Given the description of an element on the screen output the (x, y) to click on. 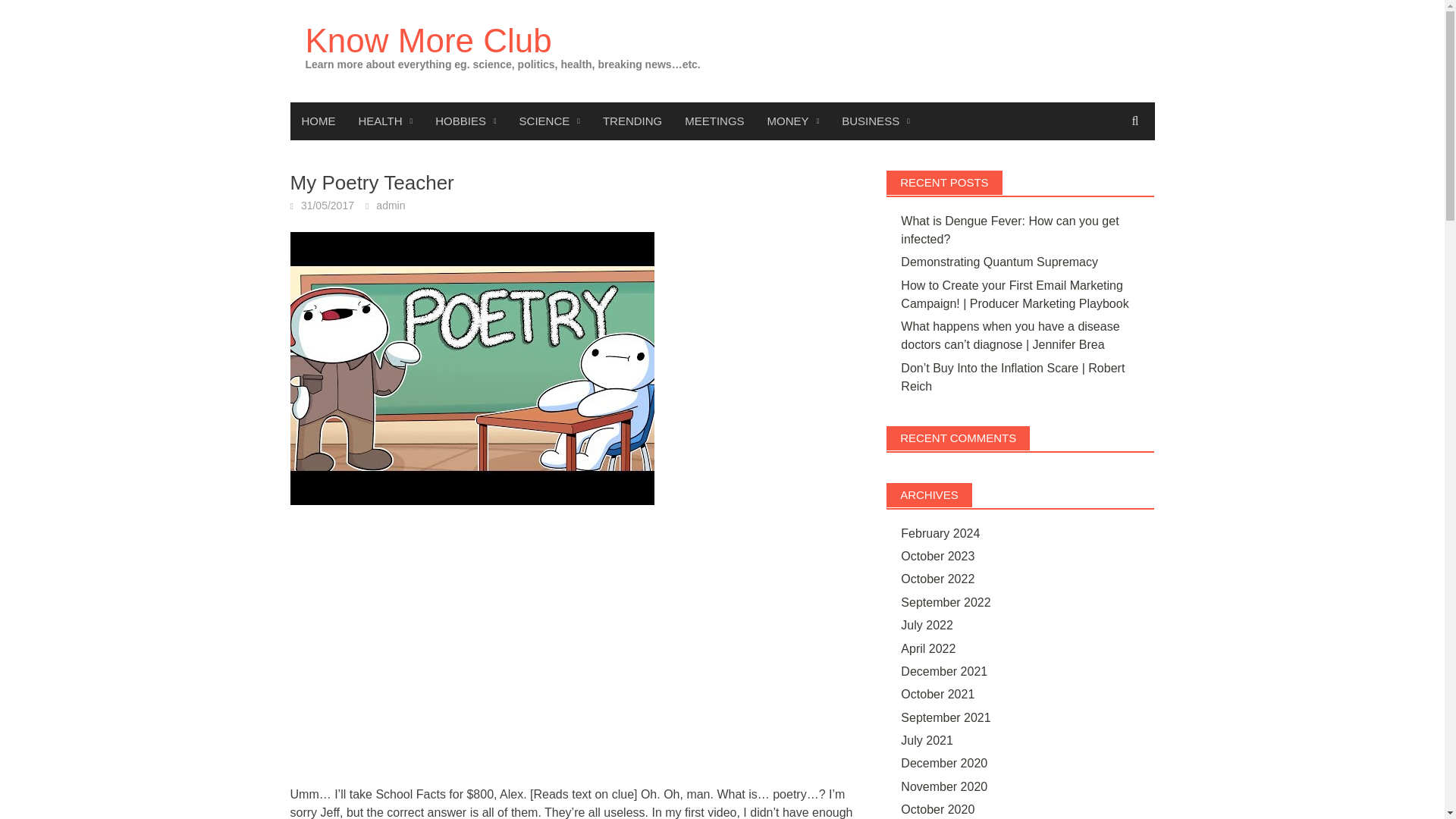
HEALTH (386, 121)
MONEY (793, 121)
TRENDING (631, 121)
HOBBIES (464, 121)
BUSINESS (875, 121)
Know More Club (427, 40)
SCIENCE (549, 121)
HOME (317, 121)
MEETINGS (713, 121)
